Given the description of an element on the screen output the (x, y) to click on. 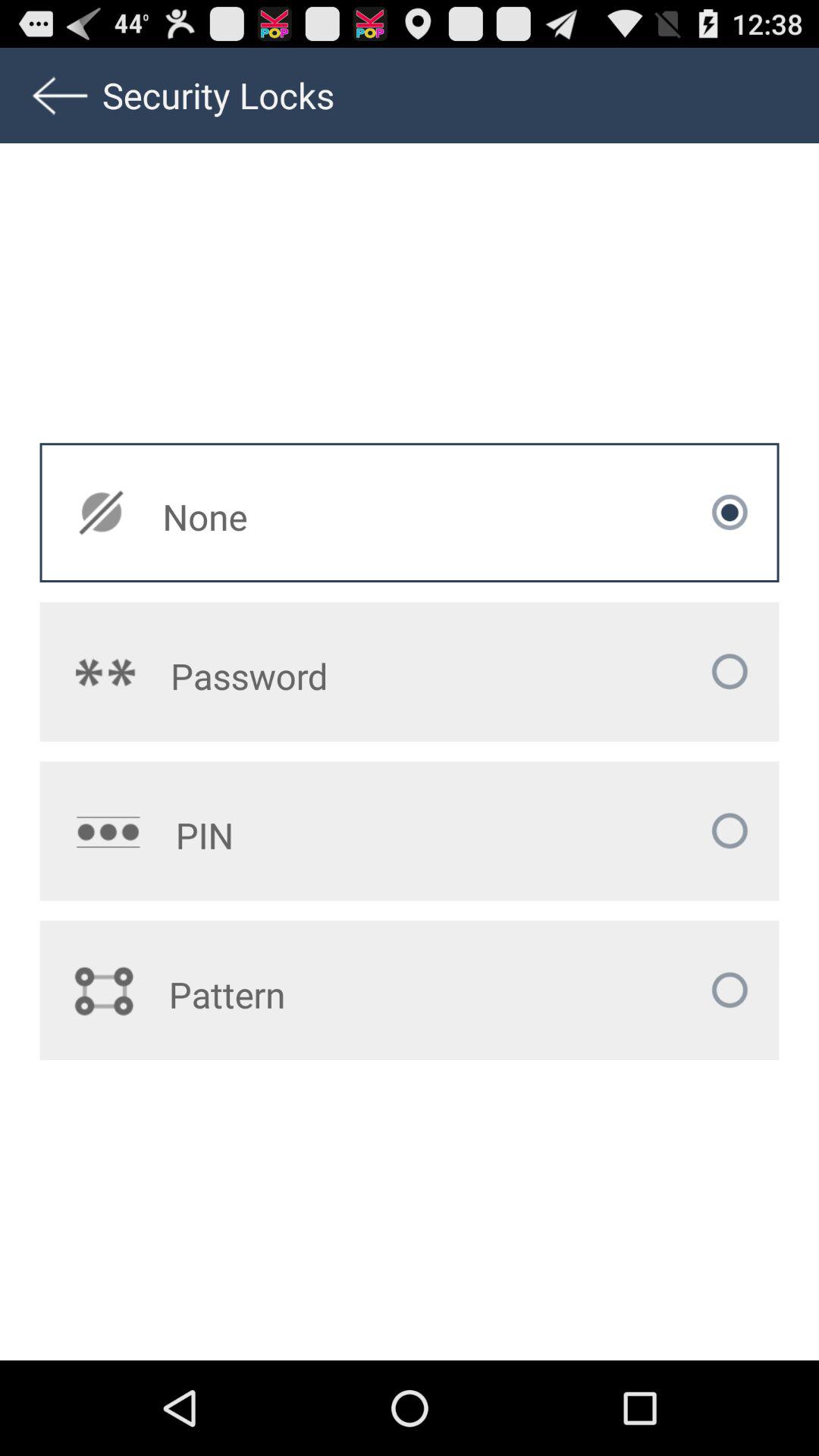
open icon below the none app (319, 675)
